Given the description of an element on the screen output the (x, y) to click on. 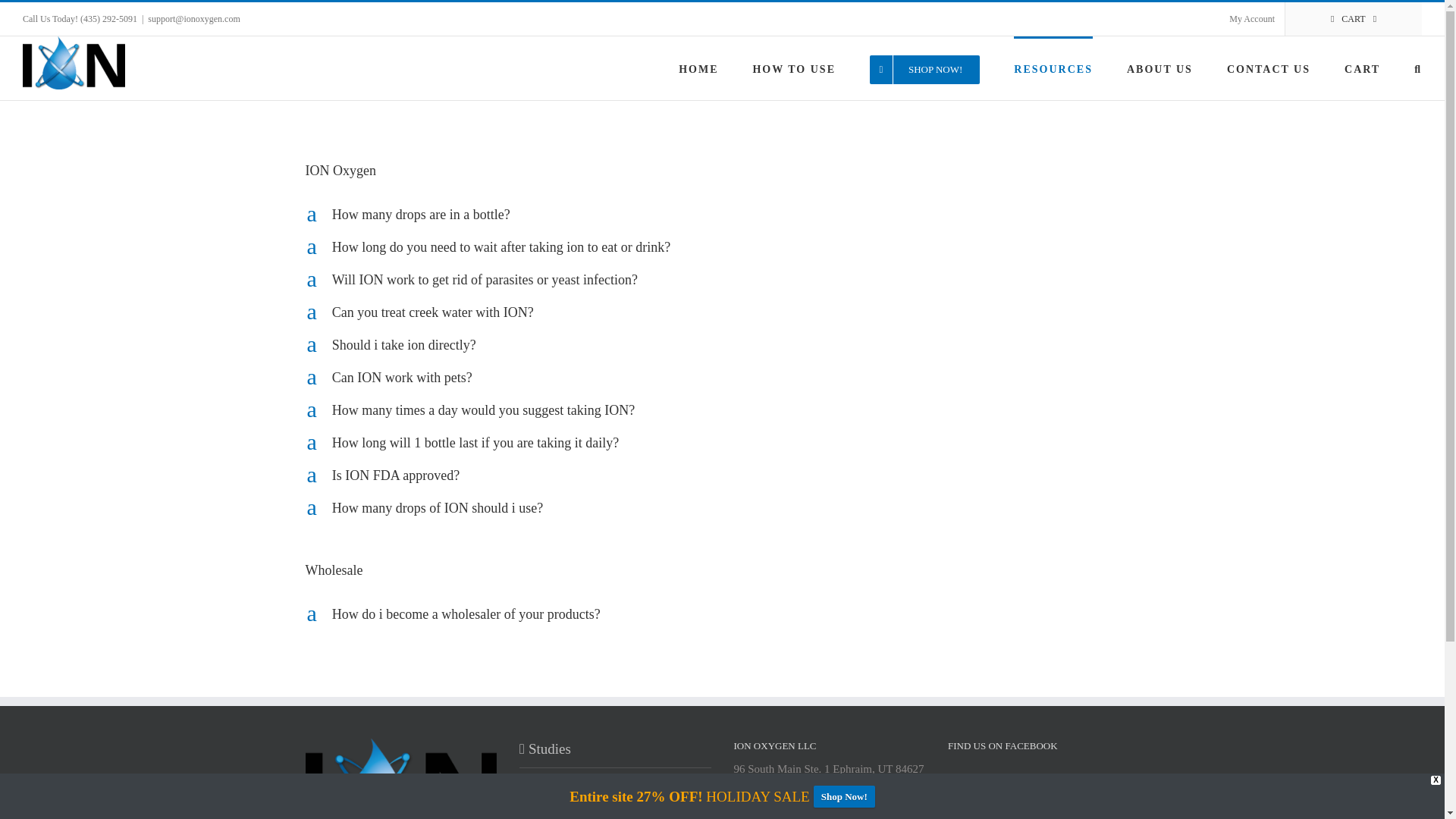
Log In (1309, 146)
CART (1353, 19)
HOW TO USE (793, 67)
ABOUT US (1159, 67)
Click here to open ION Oxygen (721, 170)
SHOP NOW! (924, 67)
CONTACT US (1268, 67)
Click here to open Wholesale (721, 570)
My Account (1252, 19)
RESOURCES (1053, 67)
